Given the description of an element on the screen output the (x, y) to click on. 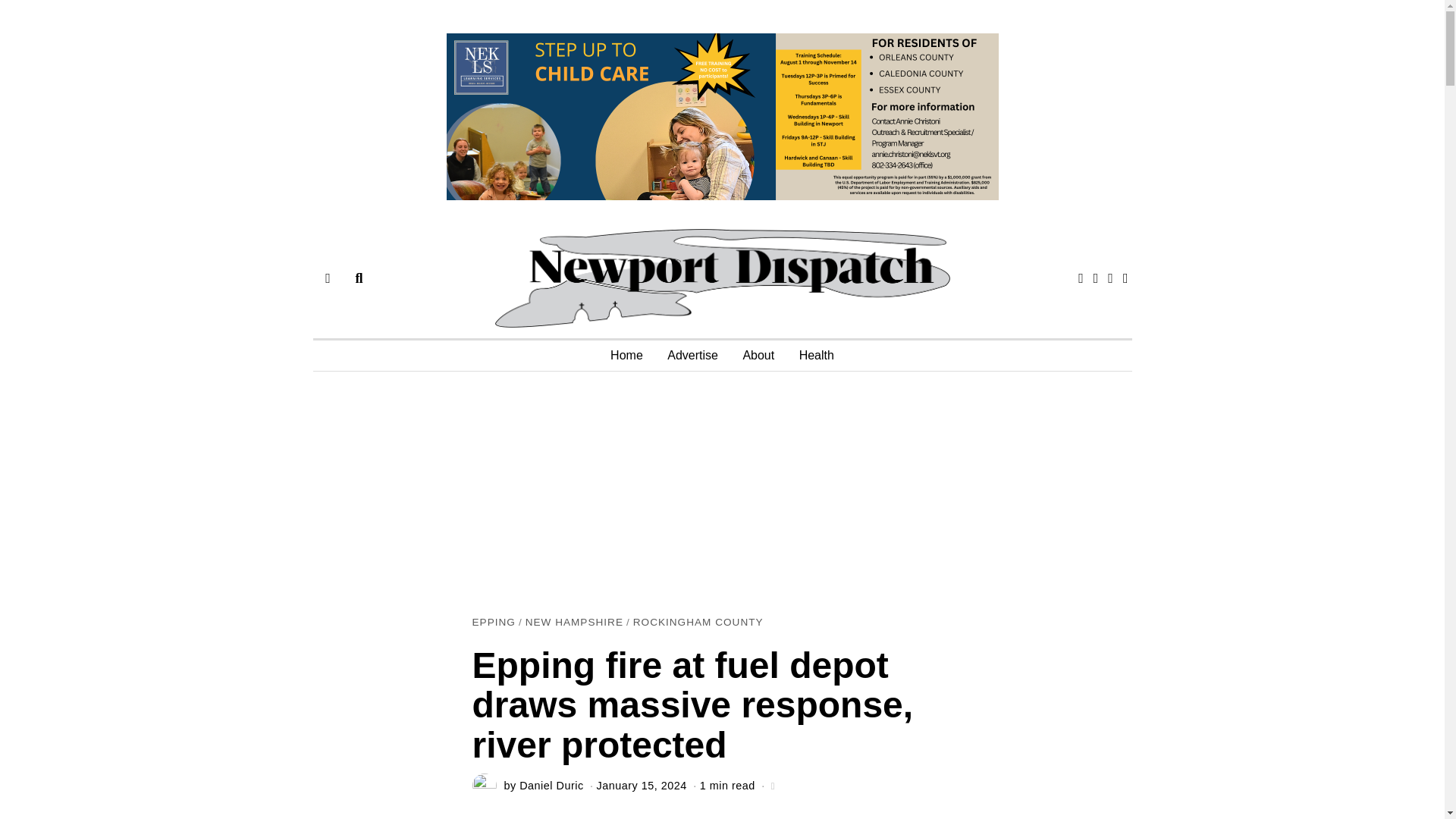
Daniel Duric (551, 785)
Health (816, 355)
About (758, 355)
ROCKINGHAM COUNTY (697, 622)
Advertise (692, 355)
EPPING (493, 622)
Home (626, 355)
NEW HAMPSHIRE (574, 622)
